Given the description of an element on the screen output the (x, y) to click on. 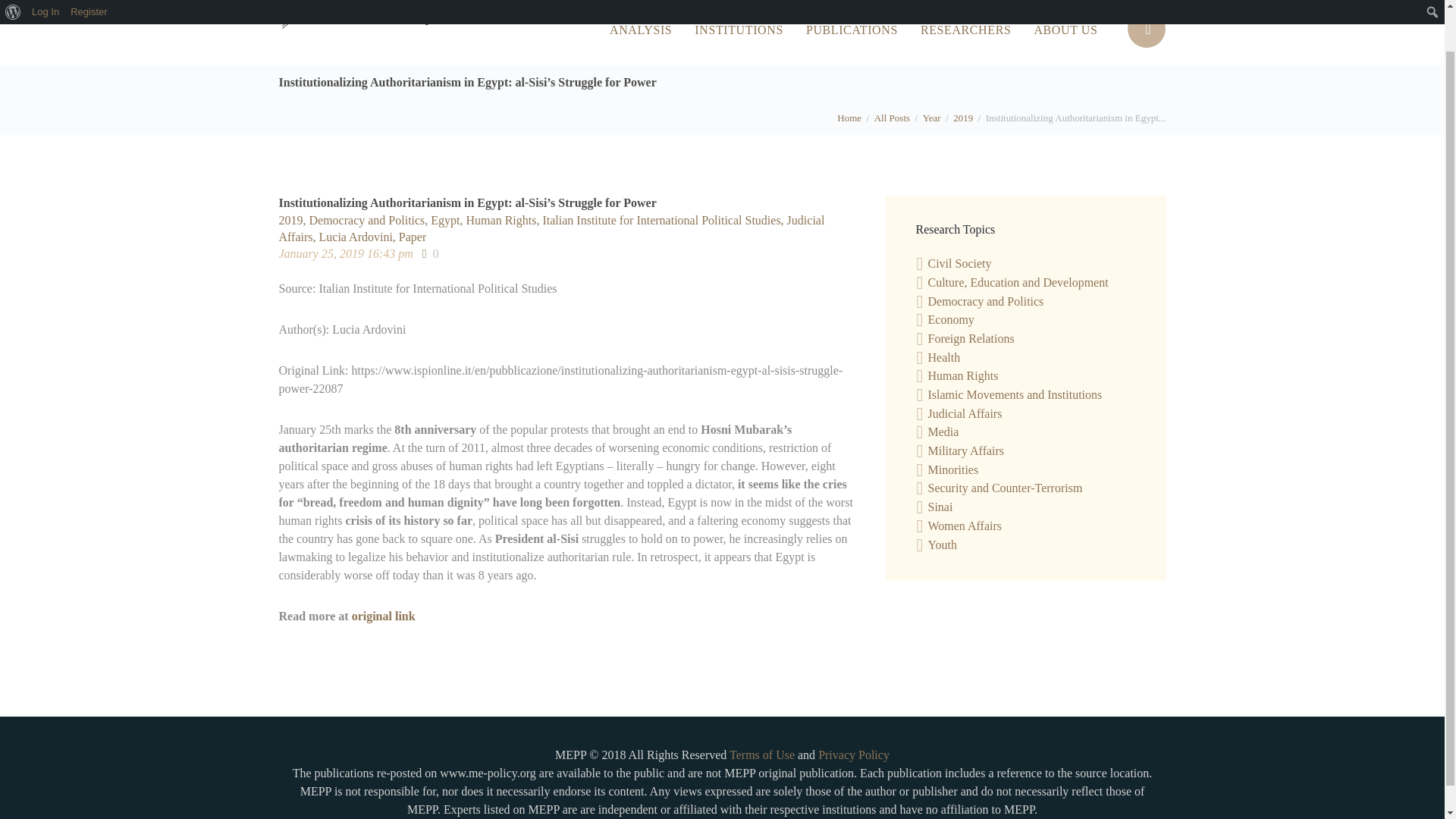
Paper (412, 236)
2019 (293, 219)
Democracy and Politics (985, 300)
2019 (962, 117)
Open search (1146, 28)
Judicial Affairs (552, 228)
PUBLICATIONS (852, 30)
original link (383, 615)
ABOUT US (1065, 30)
Year (931, 117)
INSTITUTIONS (738, 30)
Lucia Ardovini (358, 236)
Civil Society (959, 263)
Human Rights (504, 219)
0 (430, 253)
